Given the description of an element on the screen output the (x, y) to click on. 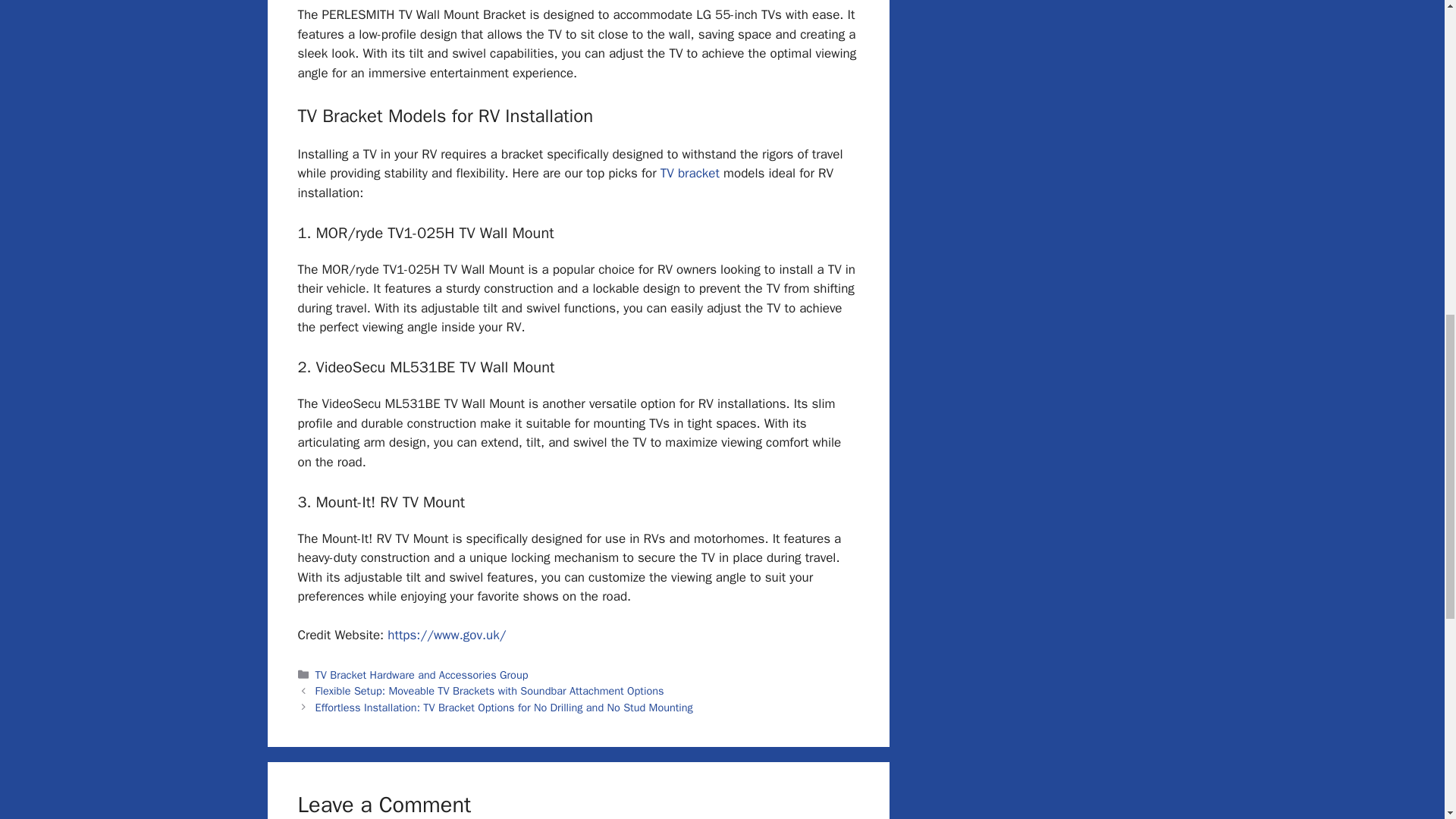
TV Bracket Hardware and Accessories Group (421, 674)
TV bracket (690, 172)
